Given the description of an element on the screen output the (x, y) to click on. 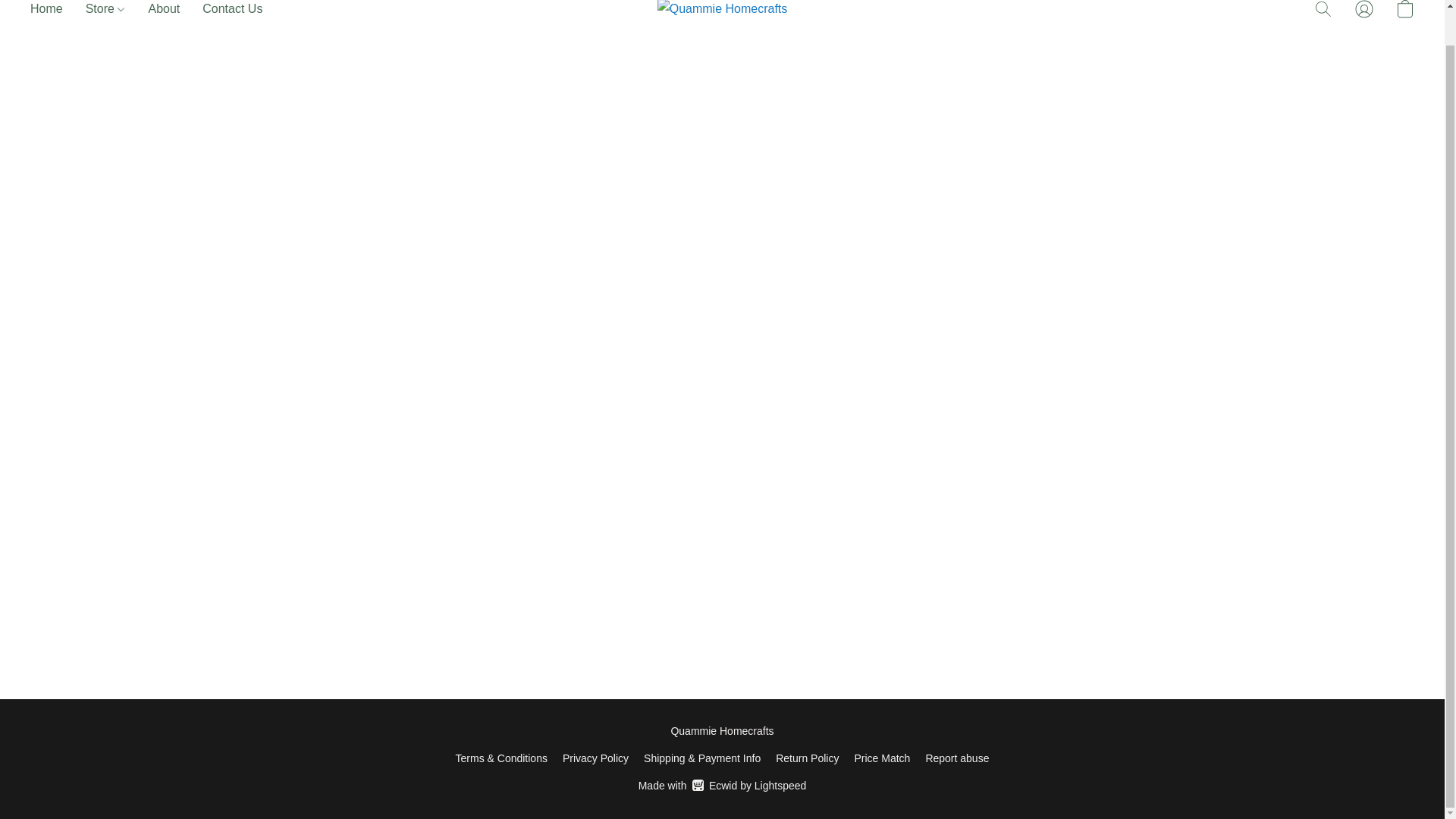
Go to your shopping cart (1404, 12)
Contact Us (226, 11)
Store (105, 11)
Home (52, 11)
Return Policy (807, 758)
Search the website (1323, 12)
Report abuse (956, 758)
Privacy Policy (722, 785)
Price Match (595, 758)
About (881, 758)
